Given the description of an element on the screen output the (x, y) to click on. 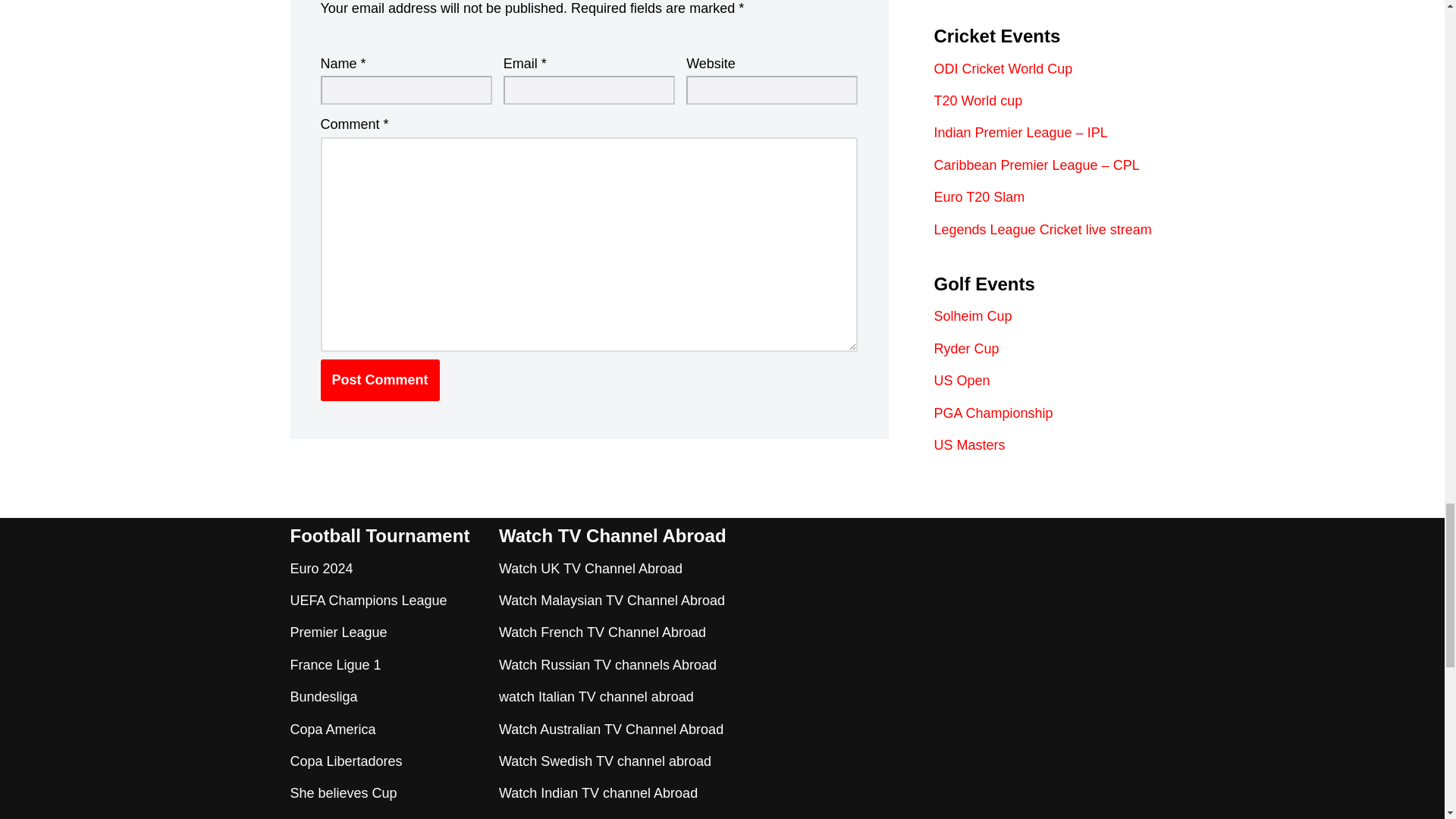
ODI Cricket World Cup live stream (1003, 68)
Post Comment (379, 380)
Post Comment (379, 380)
